Given the description of an element on the screen output the (x, y) to click on. 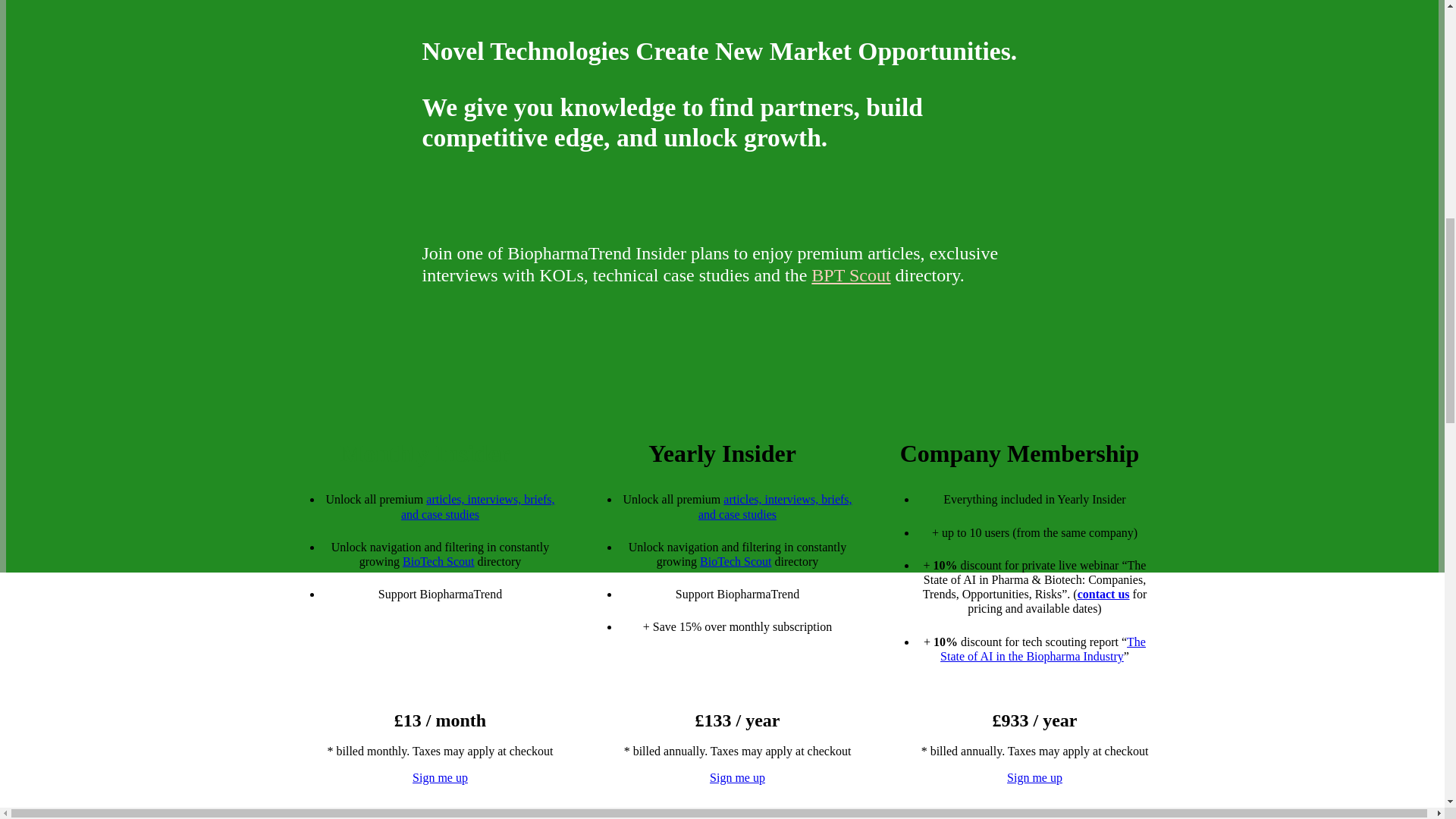
Sign me up (439, 777)
contact us (1103, 594)
The State of AI in the Biopharma Industry (1042, 648)
BioTech Scout (438, 561)
BPT Scout (849, 275)
articles, interviews, briefs, and case studies (774, 506)
Sign me up (1034, 777)
BioTech Scout (735, 561)
articles, interviews, briefs, and case studies (477, 506)
Sign me up (737, 777)
